Given the description of an element on the screen output the (x, y) to click on. 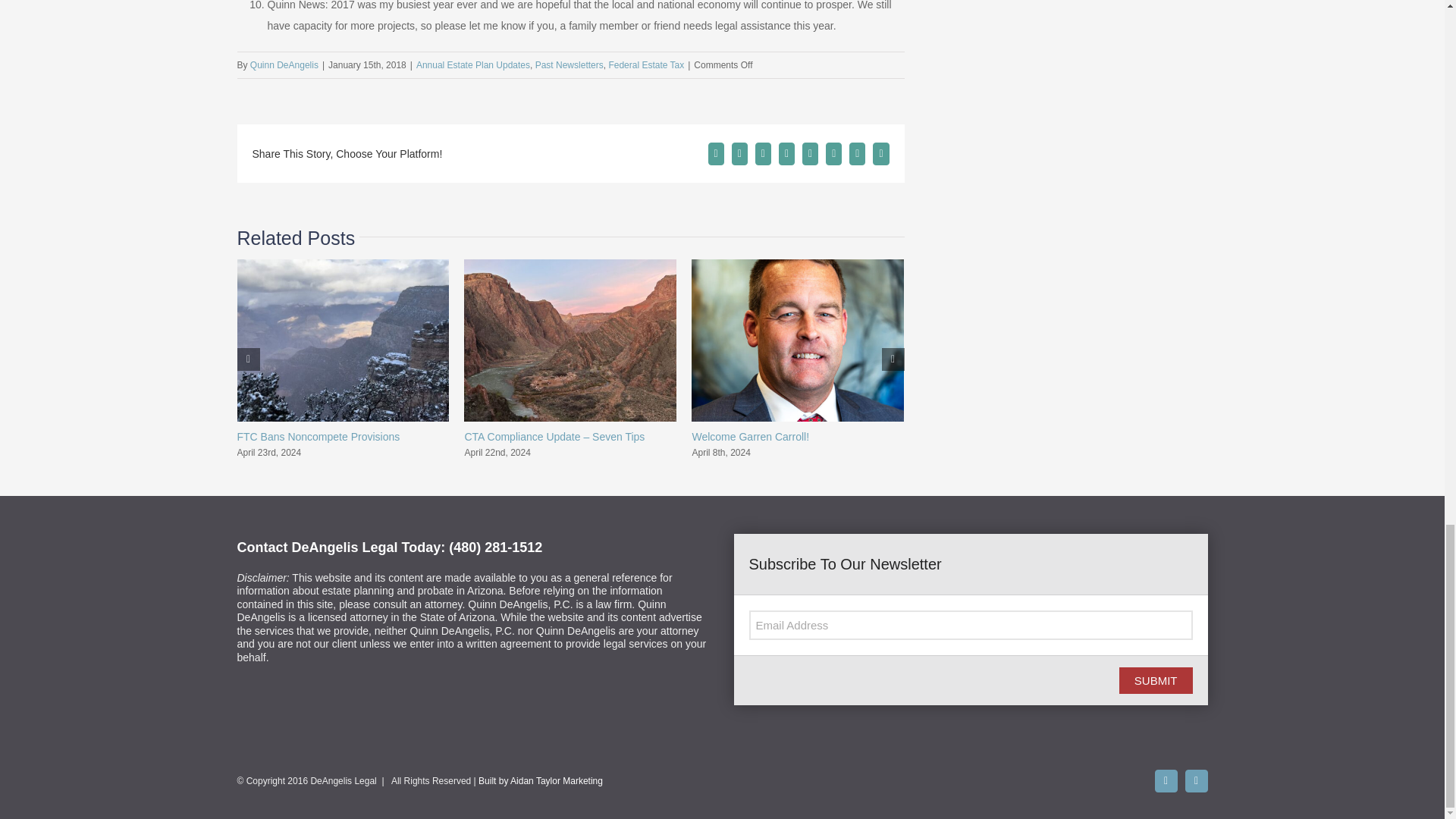
Welcome Garren Carroll! (750, 436)
Posts by Quinn DeAngelis (284, 64)
FTC Bans Noncompete Provisions (316, 436)
